Given the description of an element on the screen output the (x, y) to click on. 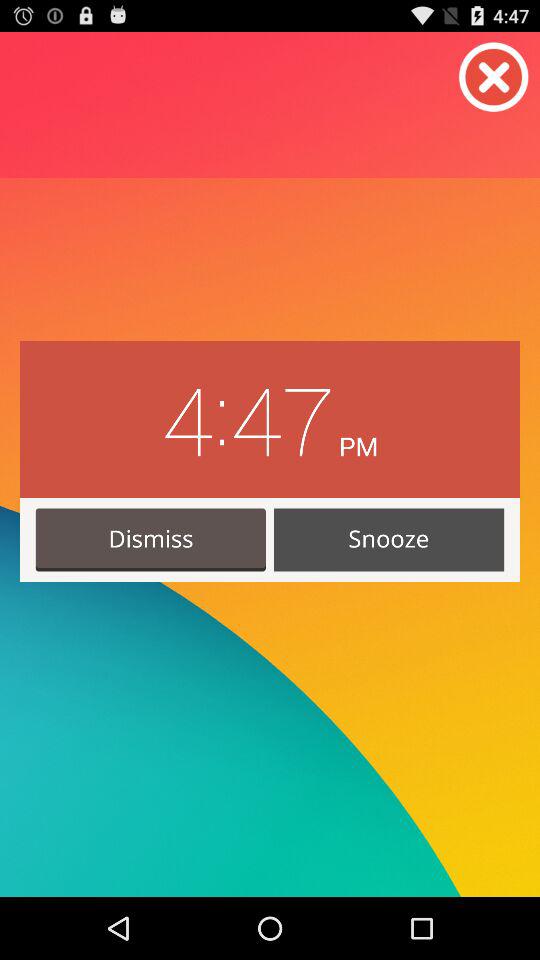
close out of clock (493, 77)
